Given the description of an element on the screen output the (x, y) to click on. 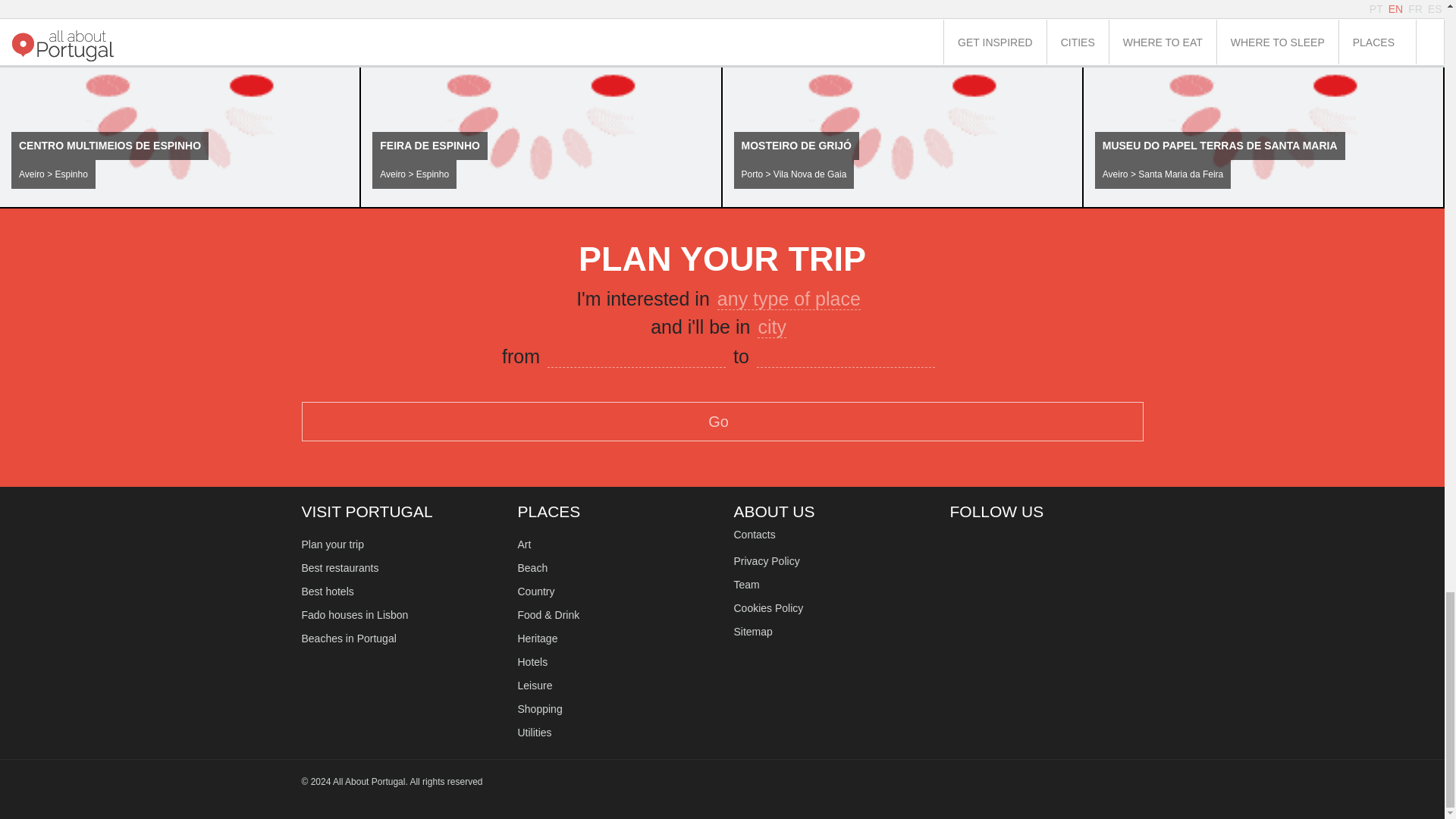
Fado houses in Lisbon (355, 614)
Best restaurants in Portugal (339, 567)
Country (535, 591)
Beaches in Portugal (348, 638)
Beach (531, 567)
Art (523, 544)
Plan your trip (332, 544)
